Given the description of an element on the screen output the (x, y) to click on. 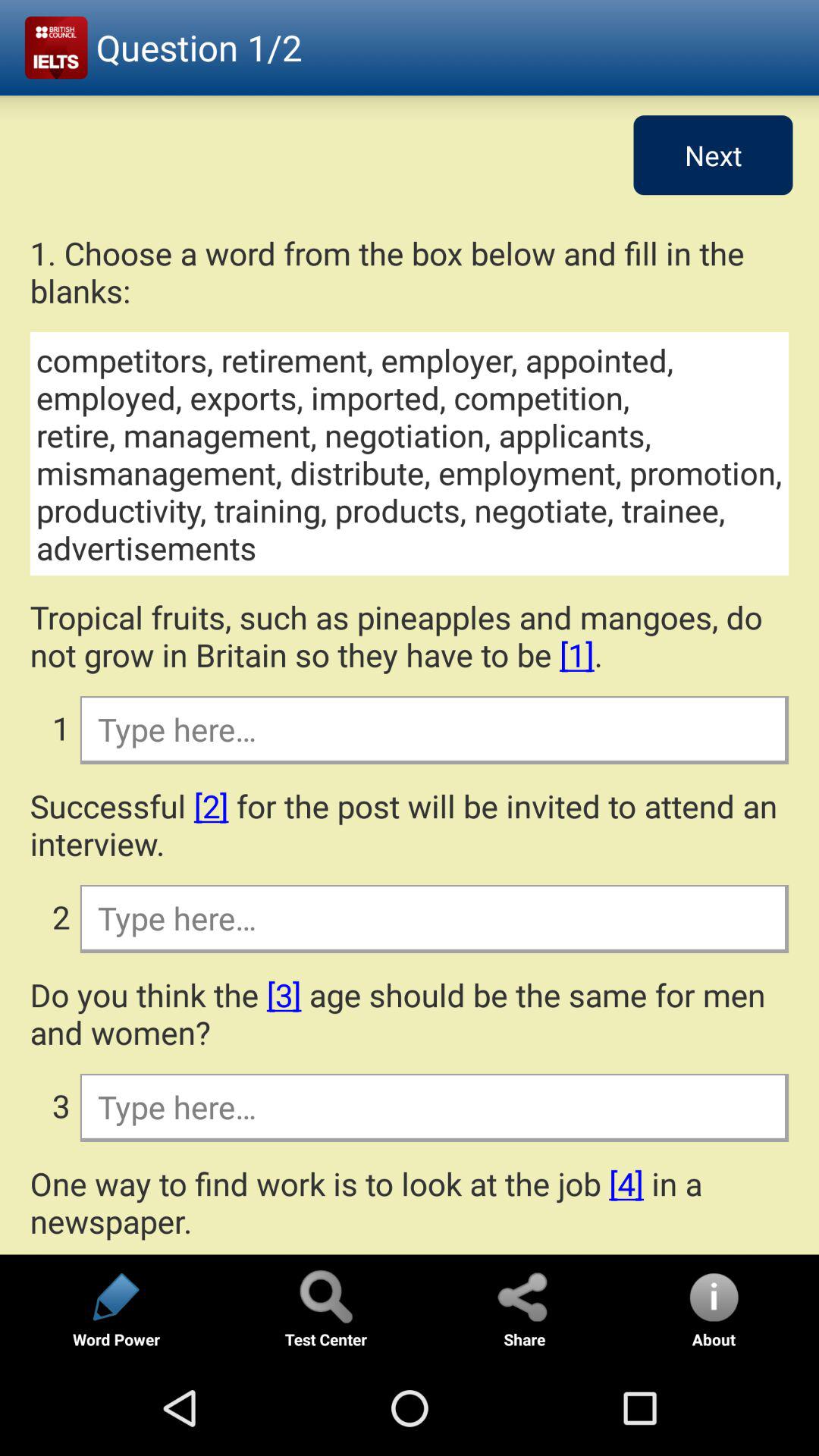
choose 1 choose a item (409, 271)
